Given the description of an element on the screen output the (x, y) to click on. 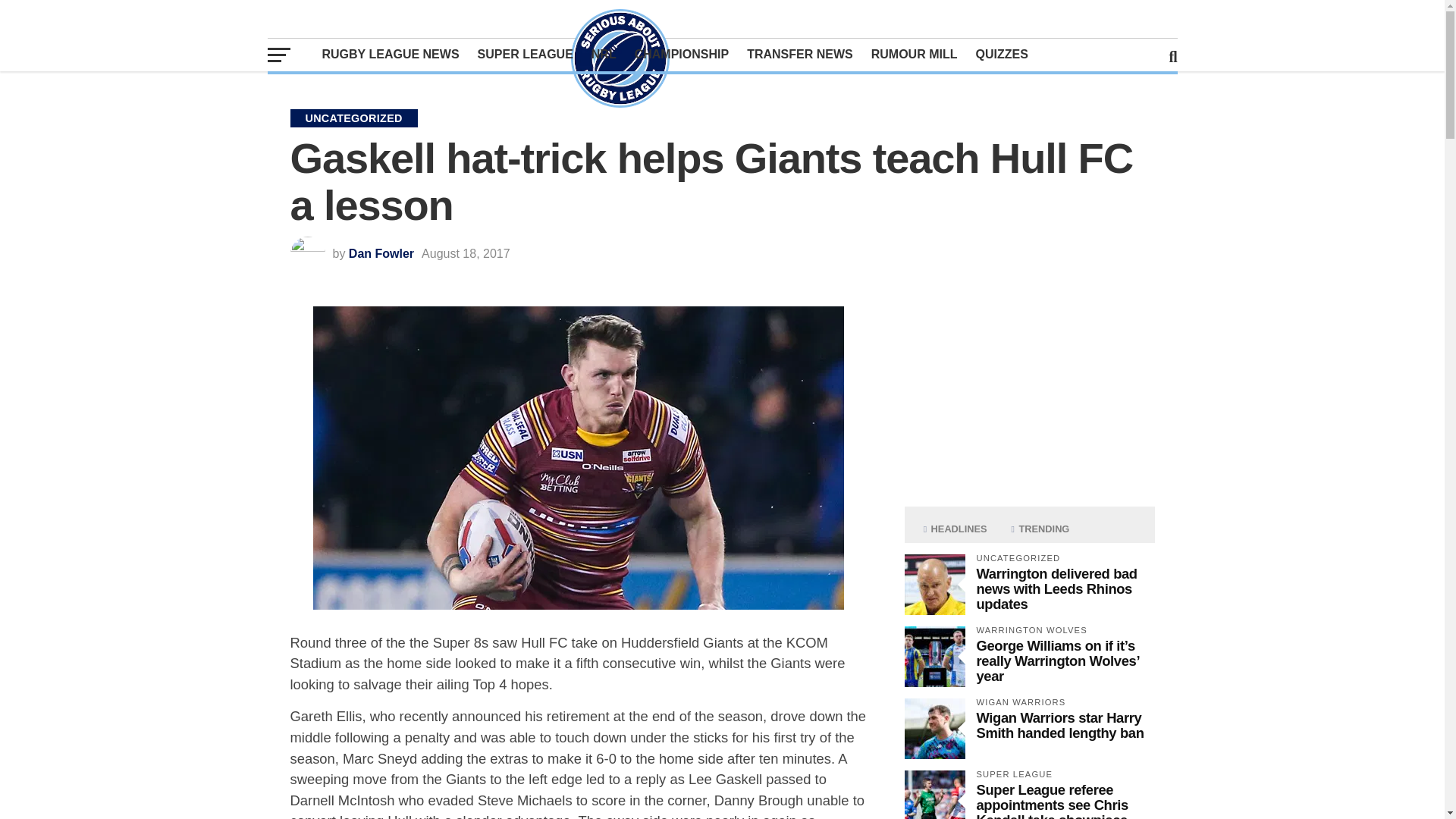
Posts by Dan Fowler (381, 253)
SUPER LEAGUE (525, 54)
NRL (604, 54)
RUGBY LEAGUE NEWS (390, 54)
CHAMPIONSHIP (682, 54)
TRANSFER NEWS (799, 54)
